Given the description of an element on the screen output the (x, y) to click on. 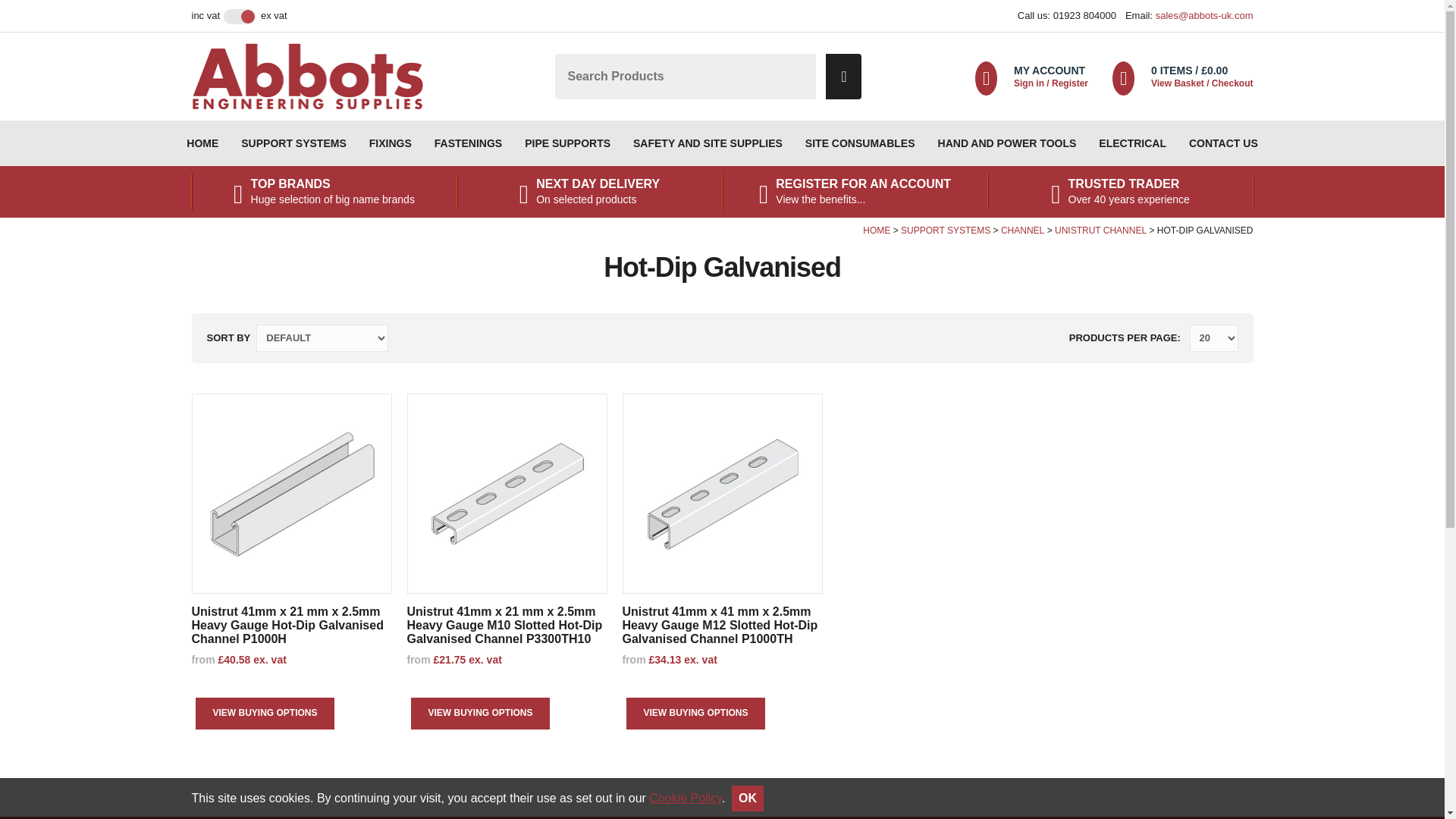
SUPPORT SYSTEMS (293, 143)
FIXINGS (390, 143)
HOME (202, 143)
inc vat (204, 15)
SAFETY AND SITE SUPPLIES (707, 143)
ex vat (273, 15)
FASTENINGS (468, 143)
PIPE SUPPORTS (567, 143)
